Given the description of an element on the screen output the (x, y) to click on. 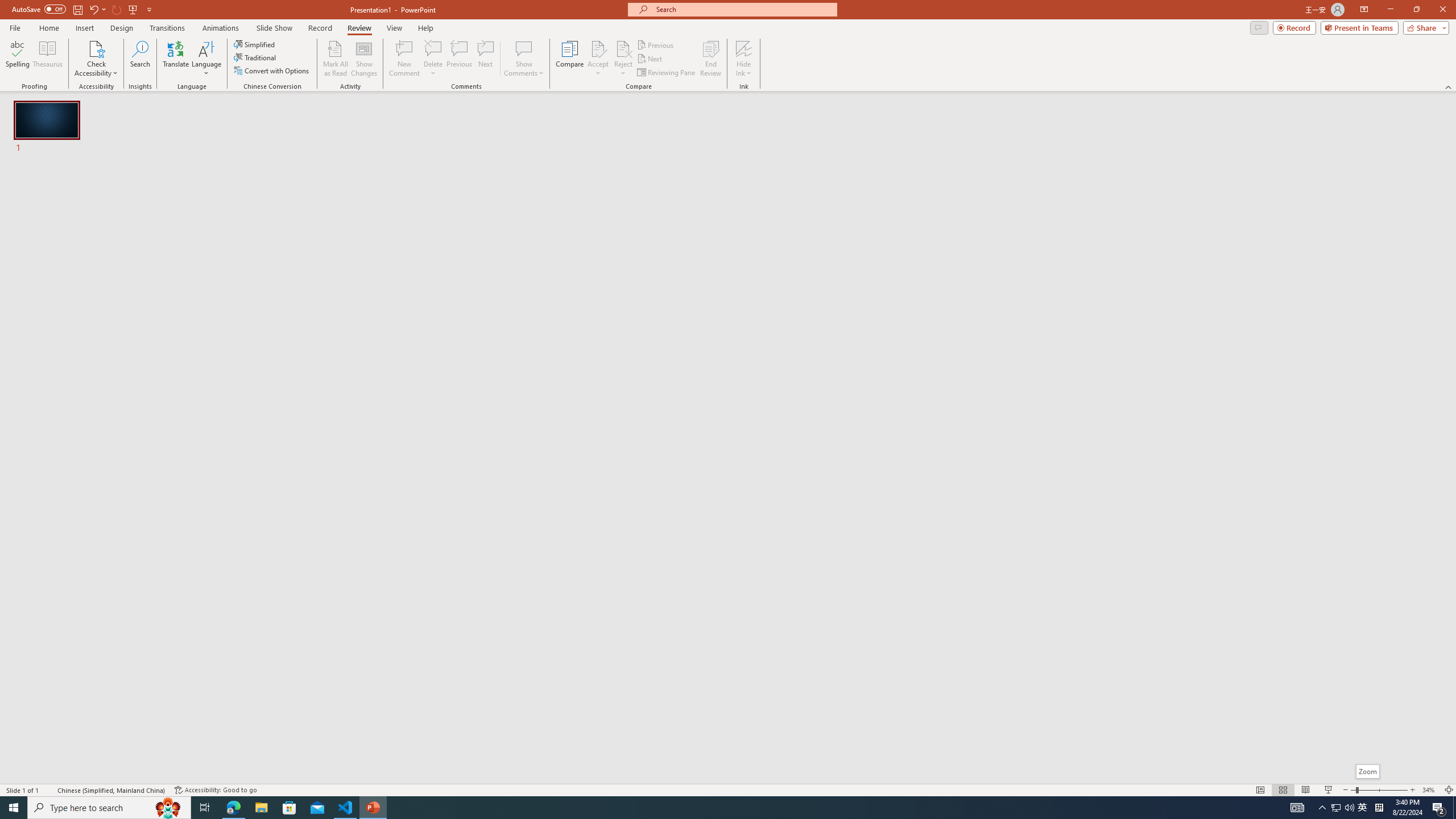
New Comment (403, 58)
Accept Change (598, 48)
Zoom 34% (1430, 790)
Convert with Options... (272, 69)
Thesaurus... (47, 58)
